Given the description of an element on the screen output the (x, y) to click on. 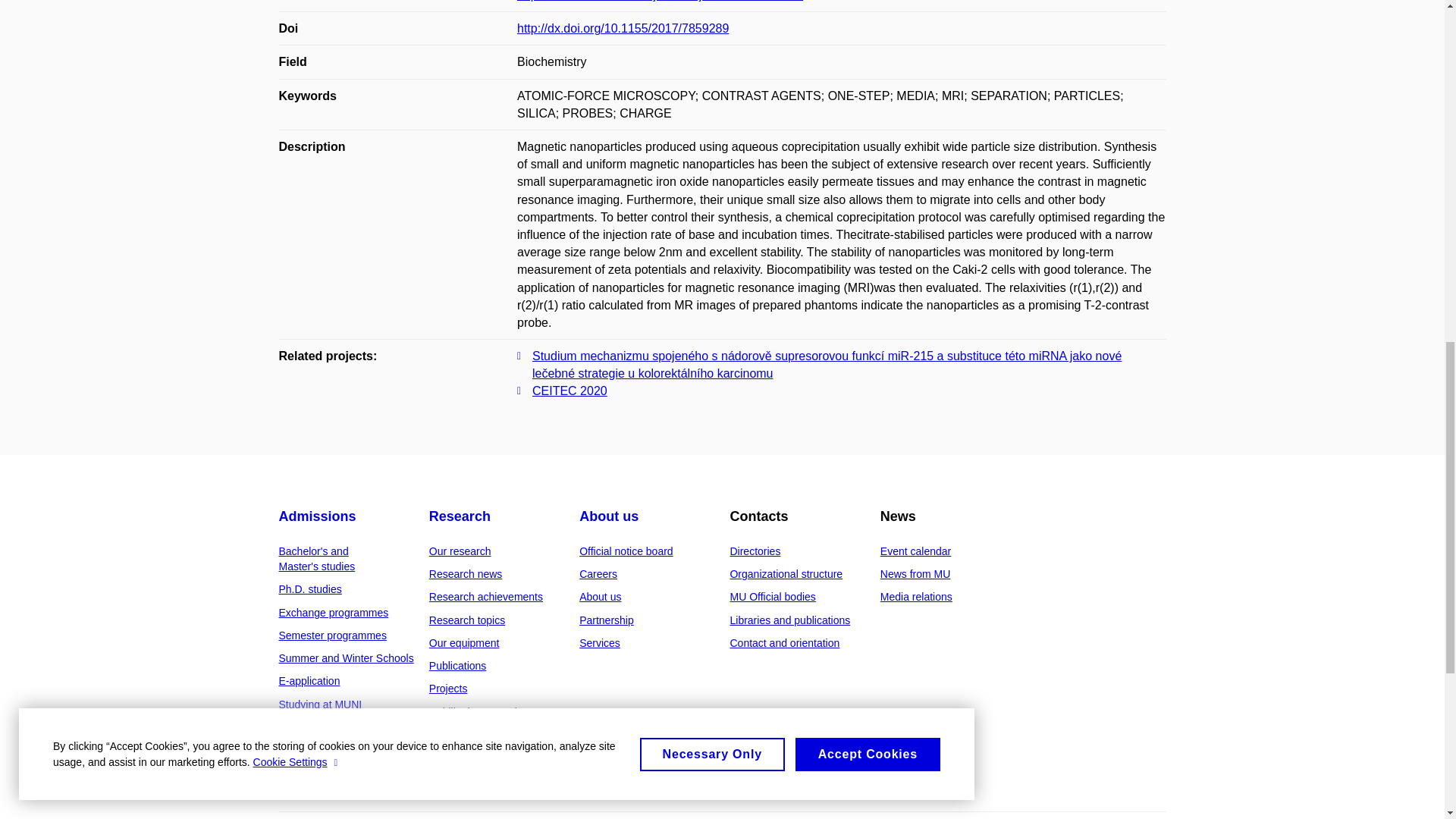
Admissions (317, 516)
Our research (460, 551)
Ph.D. studies (310, 589)
Semester programmes (333, 635)
Research news (465, 573)
Publications (457, 665)
Studying at MUNI (320, 704)
Summer and Winter Schools (346, 657)
Research (459, 516)
Research topics (467, 620)
Our equipment (464, 643)
Exchange programmes (333, 612)
Research achievements (486, 596)
E-application (309, 680)
